Given the description of an element on the screen output the (x, y) to click on. 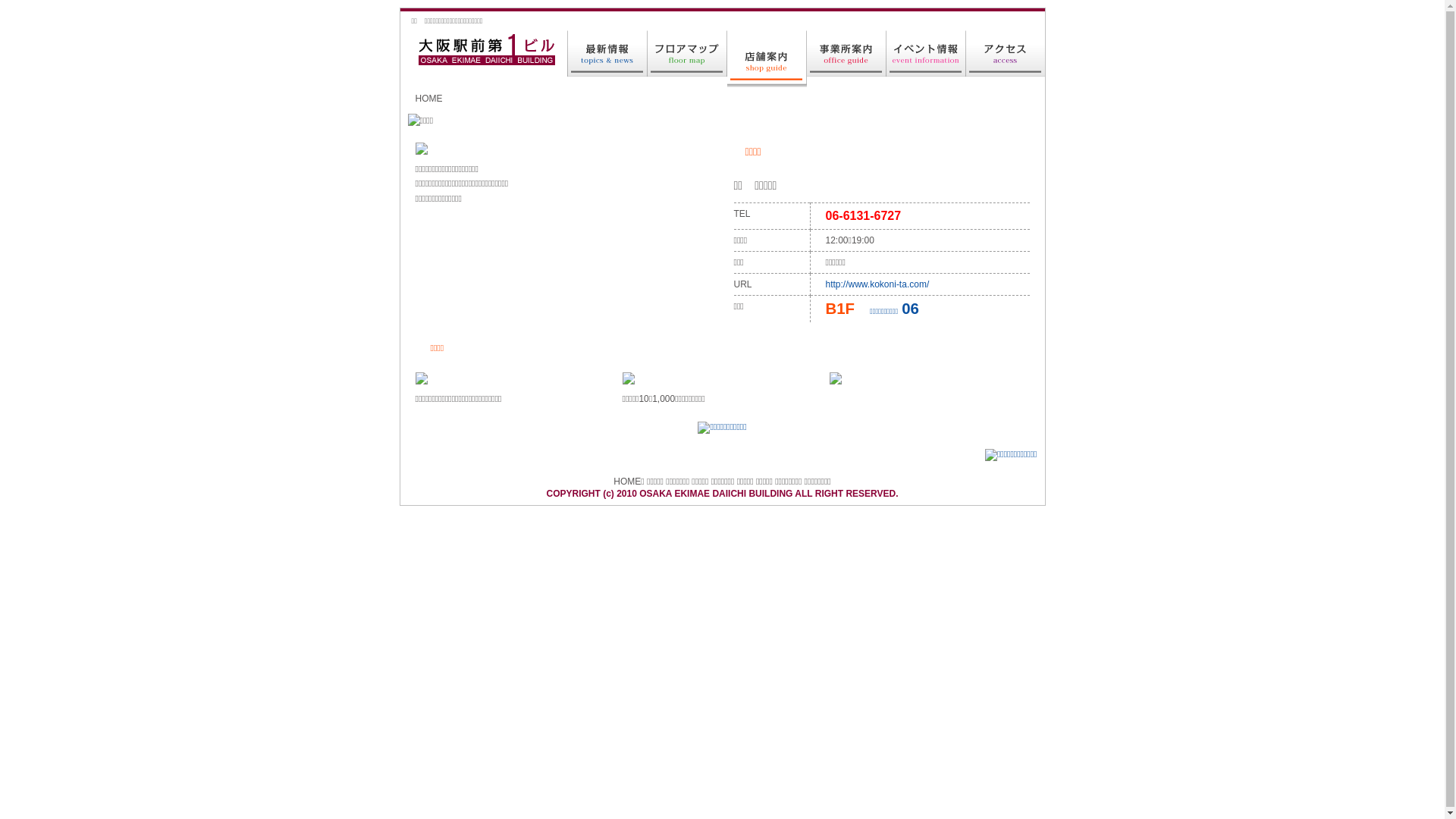
http://www.kokoni-ta.com/ Element type: text (876, 284)
HOME Element type: text (626, 481)
HOME Element type: text (428, 98)
